Given the description of an element on the screen output the (x, y) to click on. 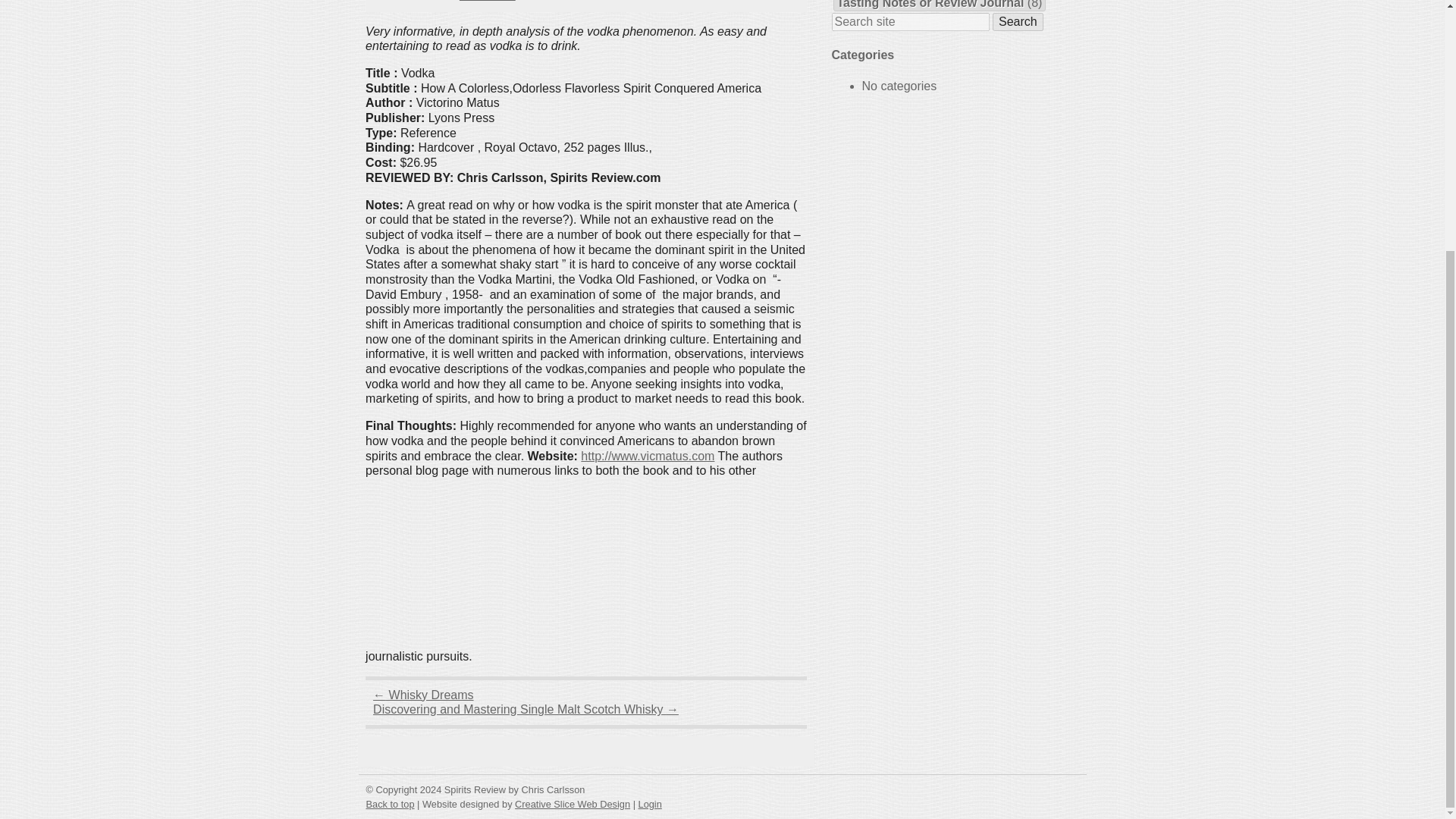
Creative Slice Web Design (572, 803)
Back to top (389, 803)
Search (1017, 22)
Tasting Notes or Review Journal (931, 4)
Reference (487, 0)
Search (1017, 22)
Login (650, 803)
